Given the description of an element on the screen output the (x, y) to click on. 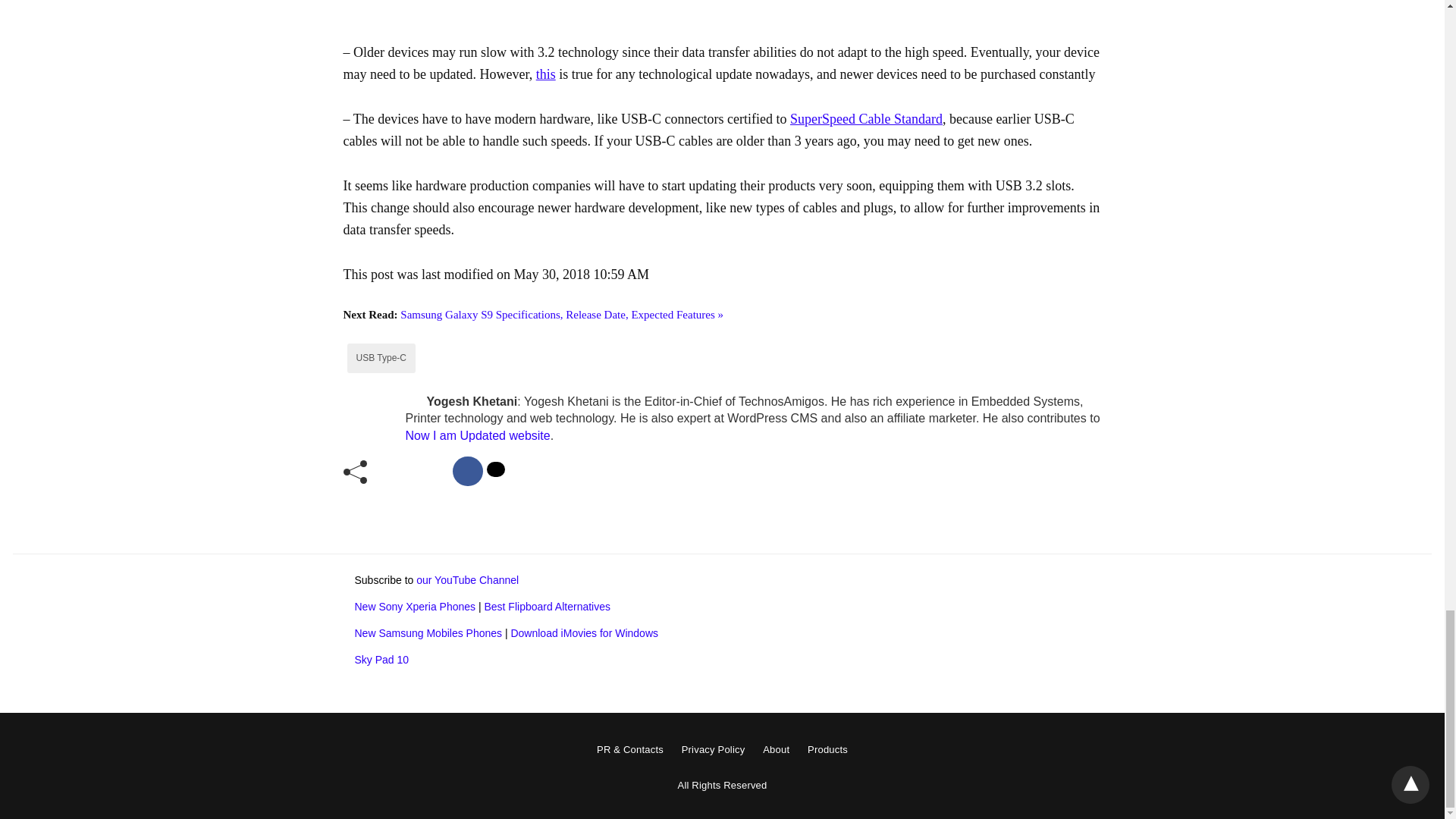
facebook share (467, 471)
Download iMovies for Windows (584, 633)
SuperSpeed Cable Standard (866, 118)
New Sony Xperia Phones (415, 606)
Products (827, 749)
Now I am Updated website (477, 435)
New Samsung Mobiles Phones (428, 633)
twitter share (495, 468)
this (545, 73)
Privacy Policy (713, 749)
